Given the description of an element on the screen output the (x, y) to click on. 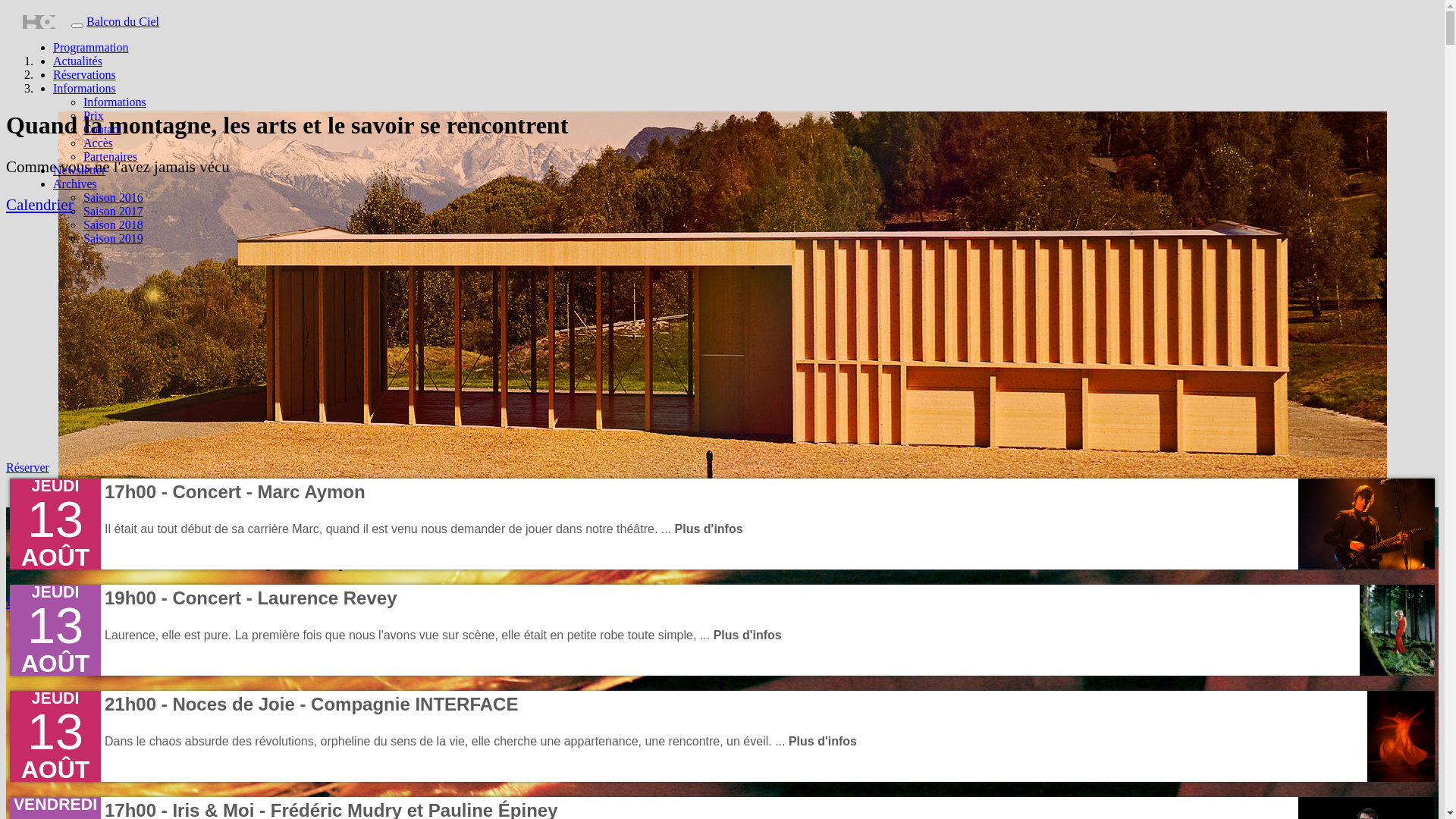
Balcon du Ciel Element type: text (122, 21)
Partenaires Element type: text (110, 156)
Saison 2018 Element type: text (113, 224)
Informations Element type: text (114, 101)
Prix Element type: text (93, 115)
Saison 2019 Element type: text (113, 238)
Programmation Element type: text (90, 46)
Saison 2017 Element type: text (113, 210)
Archives Element type: text (75, 183)
Toggle navigation Element type: text (77, 25)
Newsletter Element type: text (79, 169)
Contact Element type: text (102, 128)
Saison 2016 Element type: text (113, 197)
Inscrivez-vous Element type: text (53, 600)
Calendrier Element type: text (39, 204)
Informations Element type: text (84, 87)
